Given the description of an element on the screen output the (x, y) to click on. 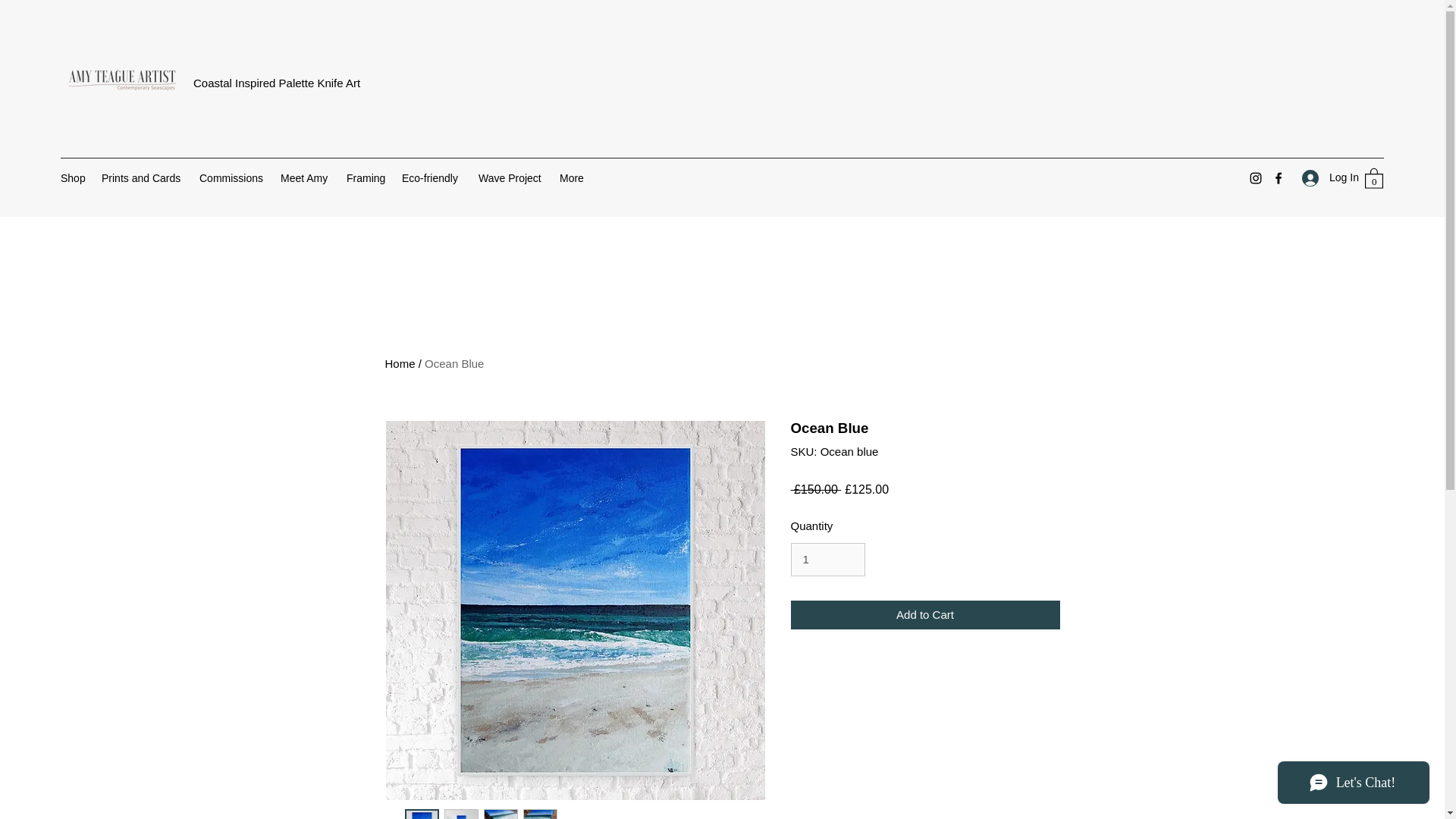
Prints and Cards (143, 178)
1 (827, 559)
Framing (366, 178)
Meet Amy (306, 178)
Log In (1325, 177)
Wave Project (510, 178)
Eco-friendly (432, 178)
Shop (73, 178)
Commissions (232, 178)
Add to Cart (924, 614)
Home (399, 363)
Ocean Blue (454, 363)
